Given the description of an element on the screen output the (x, y) to click on. 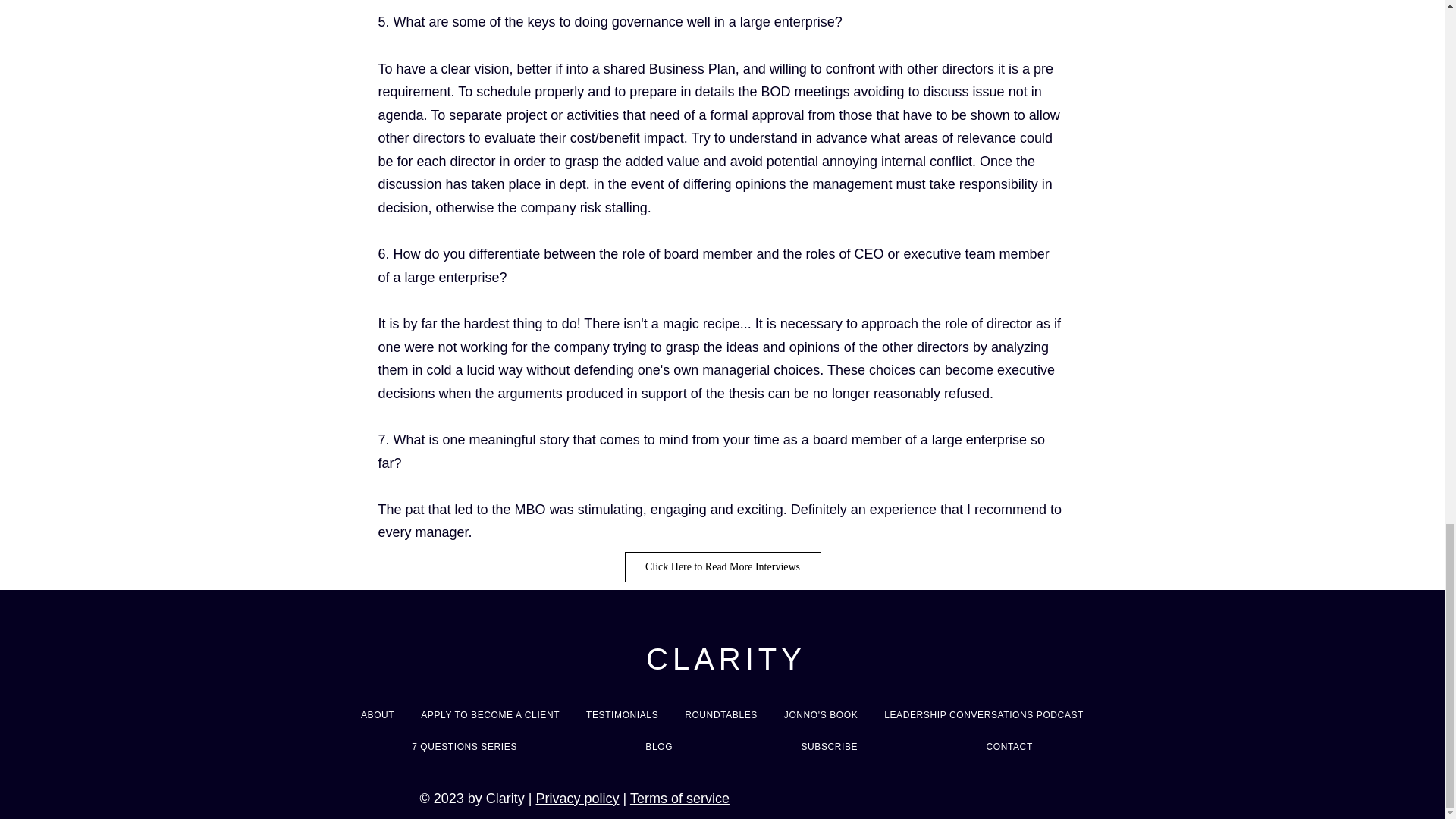
CONTACT (1009, 746)
ABOUT (377, 714)
Click Here to Read More Interviews (722, 567)
Privacy policy (576, 798)
TESTIMONIALS (622, 714)
LEADERSHIP CONVERSATIONS PODCAST (984, 714)
APPLY TO BECOME A CLIENT (490, 714)
Terms of service (679, 798)
SUBSCRIBE (828, 746)
ROUNDTABLES (721, 714)
7 QUESTIONS SERIES (464, 746)
BLOG (659, 746)
JONNO'S BOOK (820, 714)
CLARITY (726, 658)
